Given the description of an element on the screen output the (x, y) to click on. 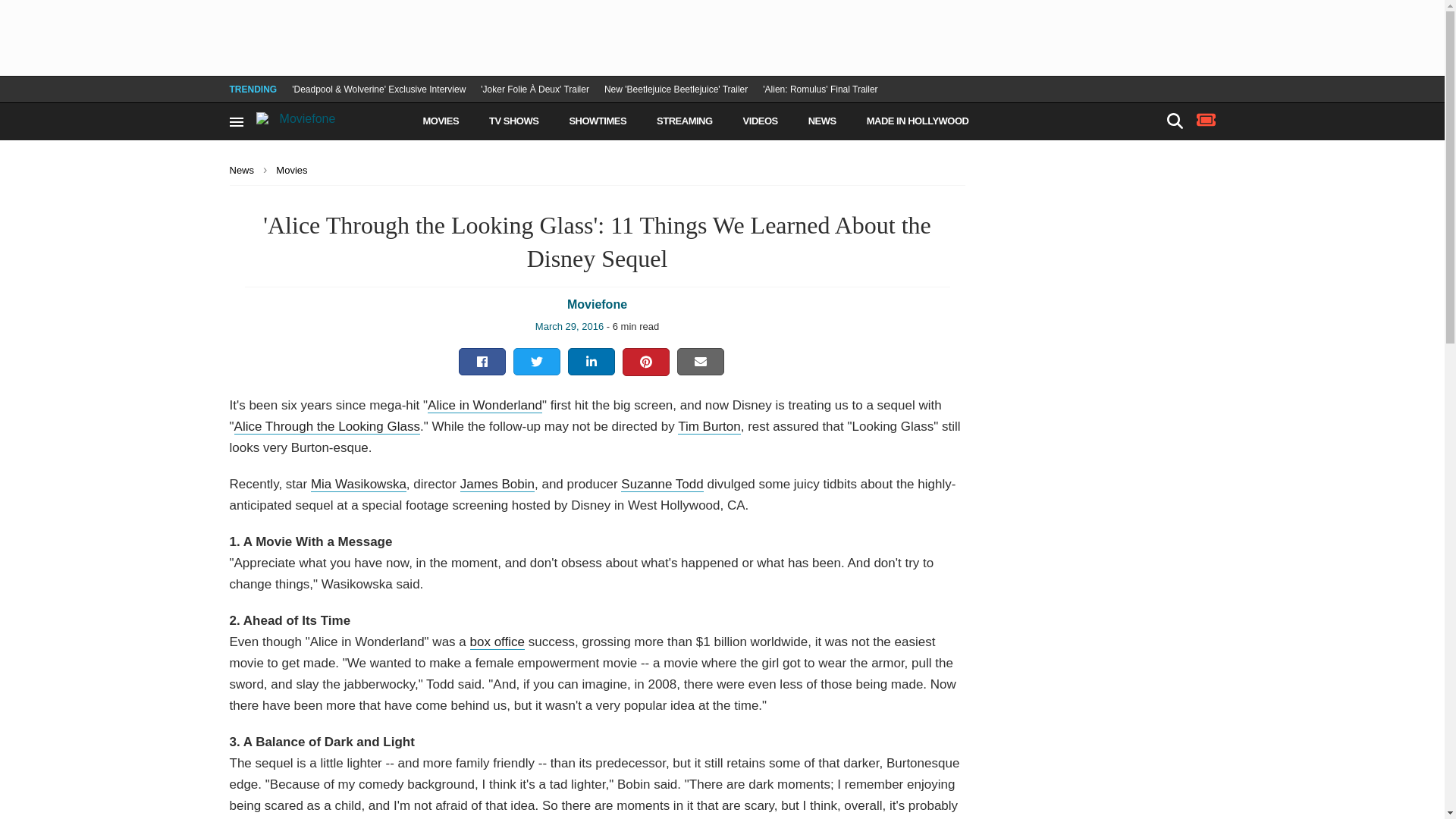
Share on Facebook (482, 361)
Moviefone (597, 304)
'Alien: Romulus' Final Trailer (819, 89)
Share on LinkedIn (591, 361)
Share on Twitter (536, 361)
SHOWTIMES (597, 120)
NEWS (821, 120)
Movies (295, 170)
MOVIES (441, 120)
News (245, 170)
Moviefone (331, 116)
Share on Email (700, 361)
TV SHOWS (513, 120)
MADE IN HOLLYWOOD (917, 120)
New 'Beetlejuice Beetlejuice' Trailer (676, 89)
